Given the description of an element on the screen output the (x, y) to click on. 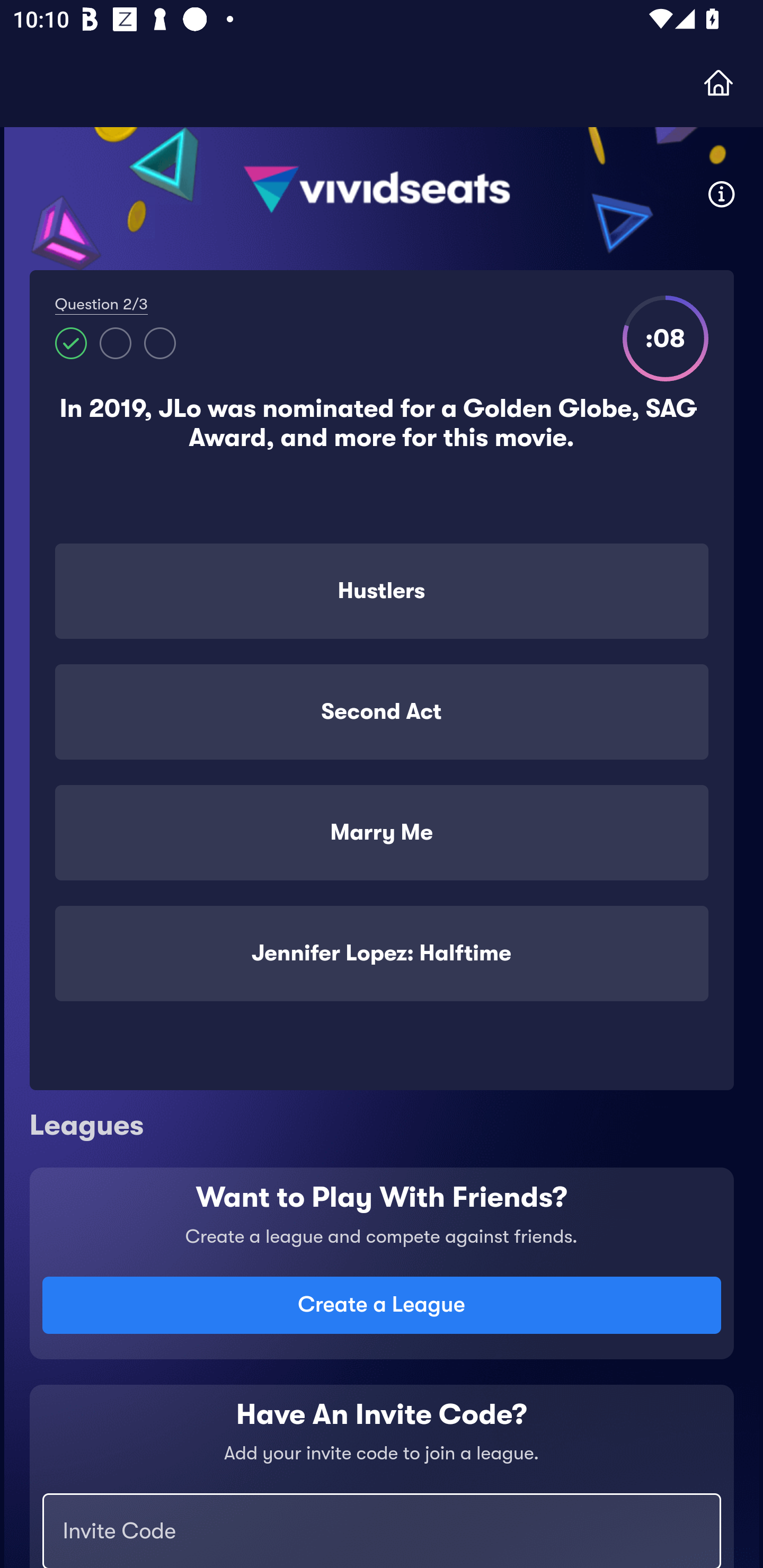
Hustlers (381, 591)
Second Act (381, 711)
Marry Me (381, 832)
Jennifer Lopez: Halftime (381, 953)
Create a League (381, 1305)
